Given the description of an element on the screen output the (x, y) to click on. 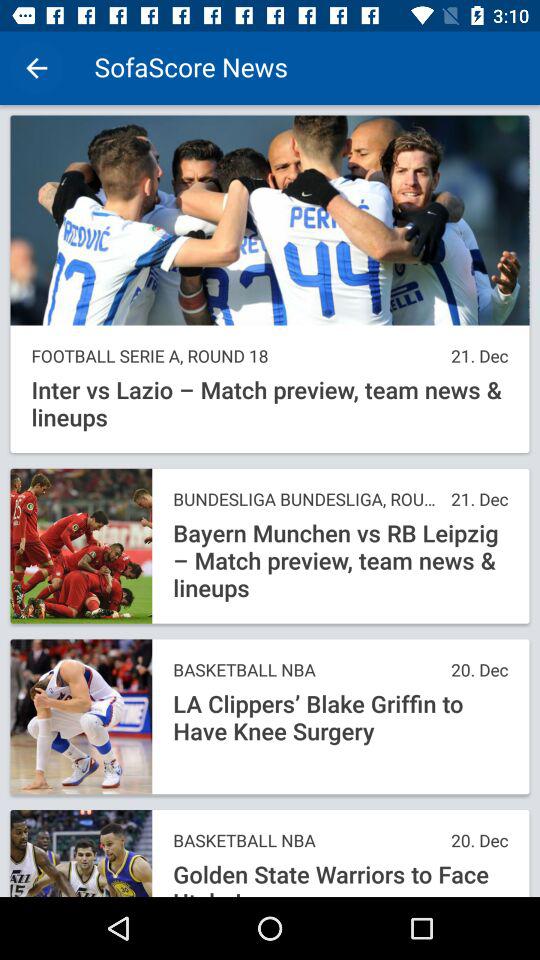
launch item to the left of the 21. dec icon (306, 499)
